Given the description of an element on the screen output the (x, y) to click on. 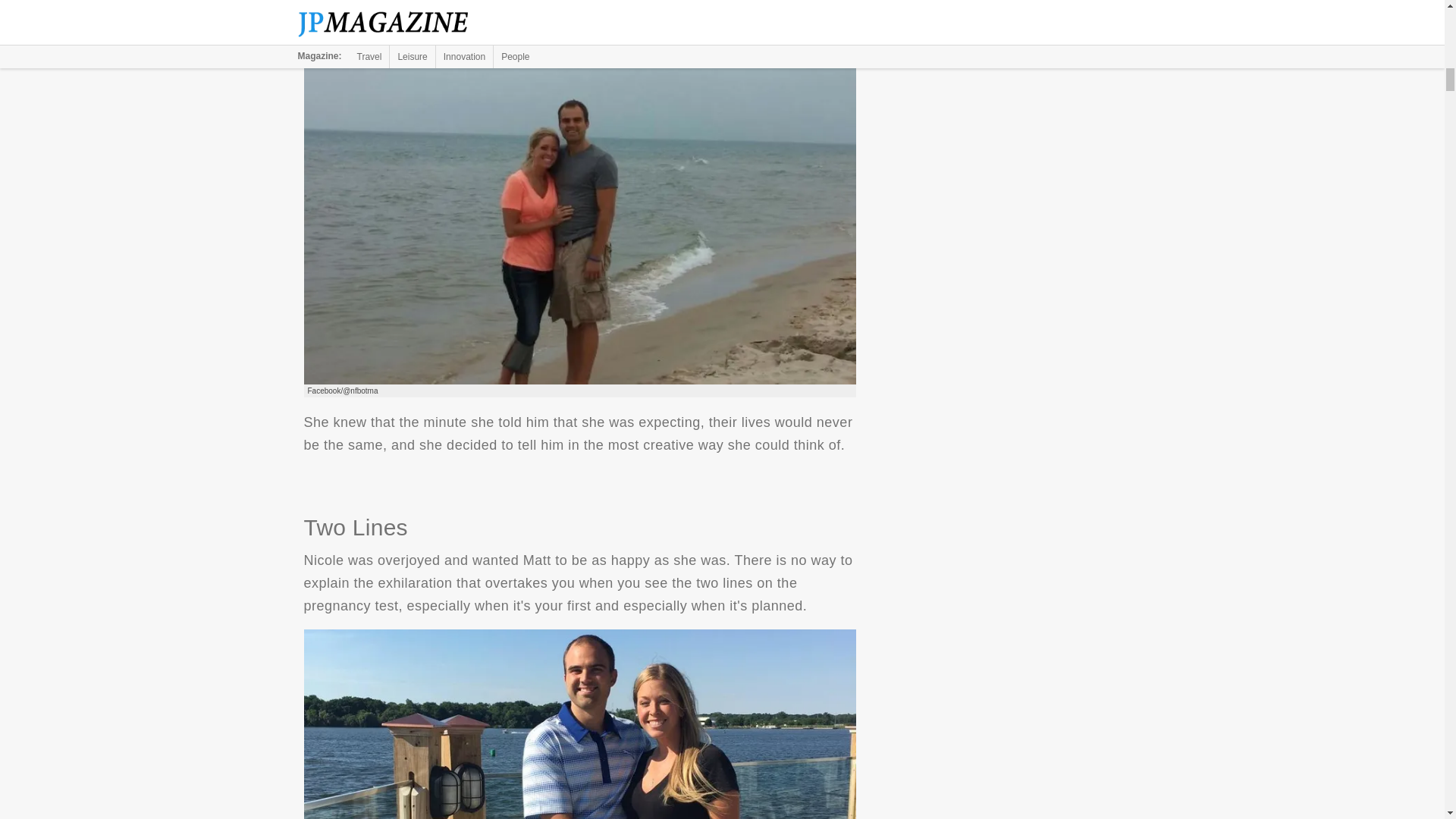
Two Lines (579, 724)
